Given the description of an element on the screen output the (x, y) to click on. 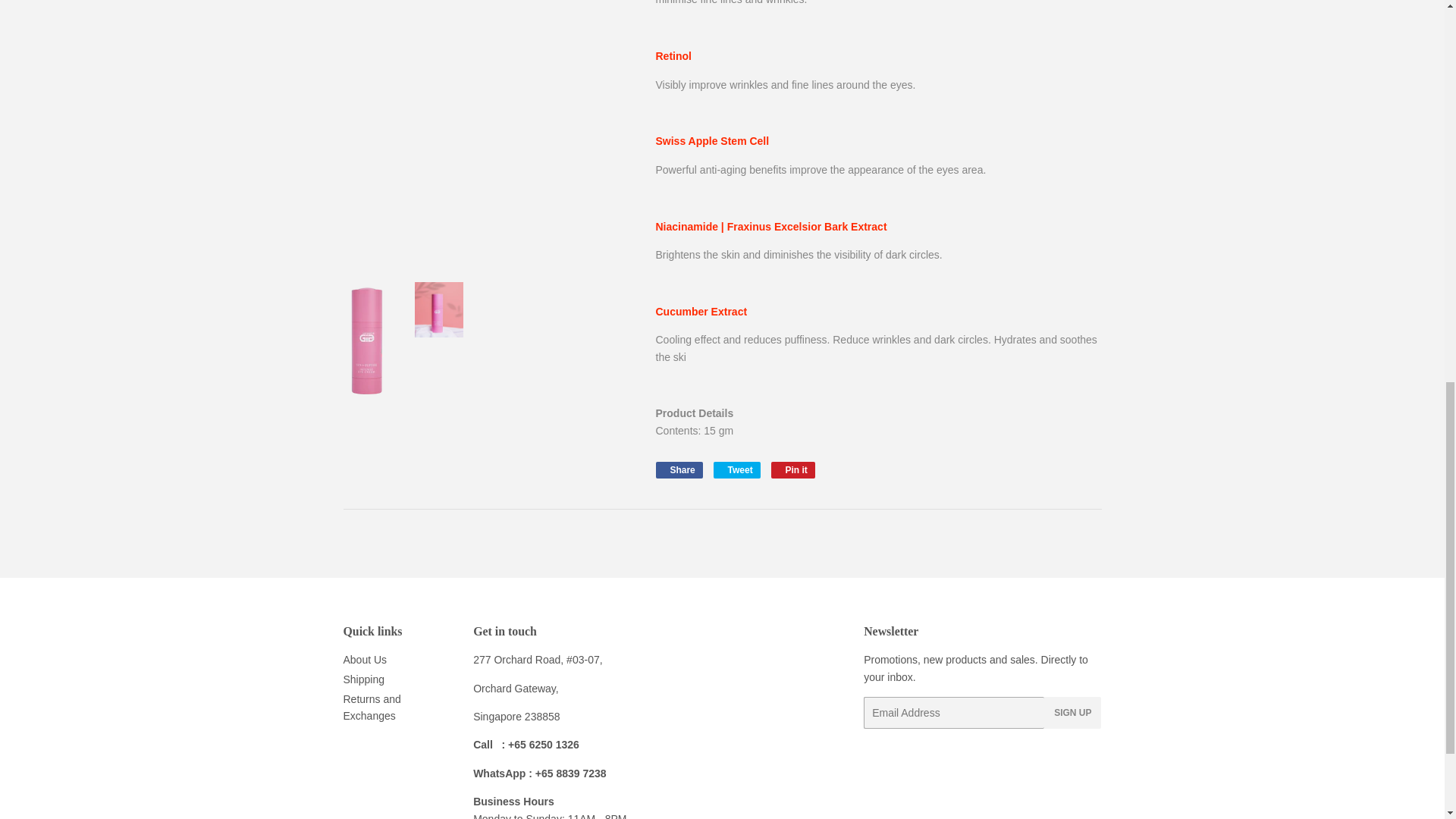
Pin on Pinterest (793, 469)
Share on Facebook (678, 469)
Tweet on Twitter (736, 469)
